Given the description of an element on the screen output the (x, y) to click on. 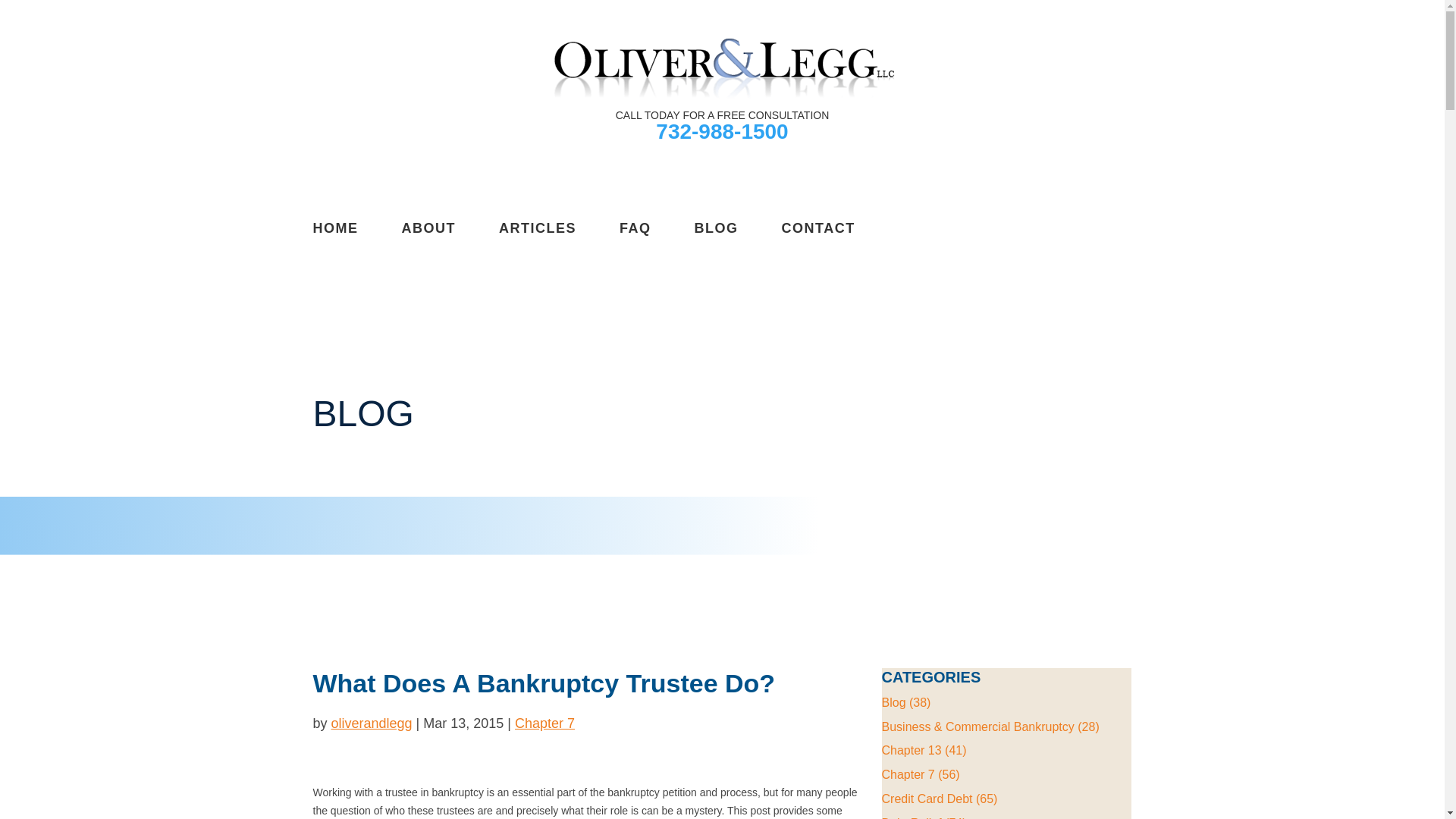
Chapter 7 (545, 723)
Chapter 7 (907, 774)
ARTICLES (537, 228)
Blog (892, 702)
oliverandlegg (371, 723)
CONTACT (818, 228)
FAQ (635, 228)
ABOUT (429, 228)
HOME (335, 228)
732-988-1500 (721, 131)
Posts by oliverandlegg (371, 723)
Chapter 13 (910, 749)
Credit Card Debt (926, 798)
BLOG (716, 228)
